Given the description of an element on the screen output the (x, y) to click on. 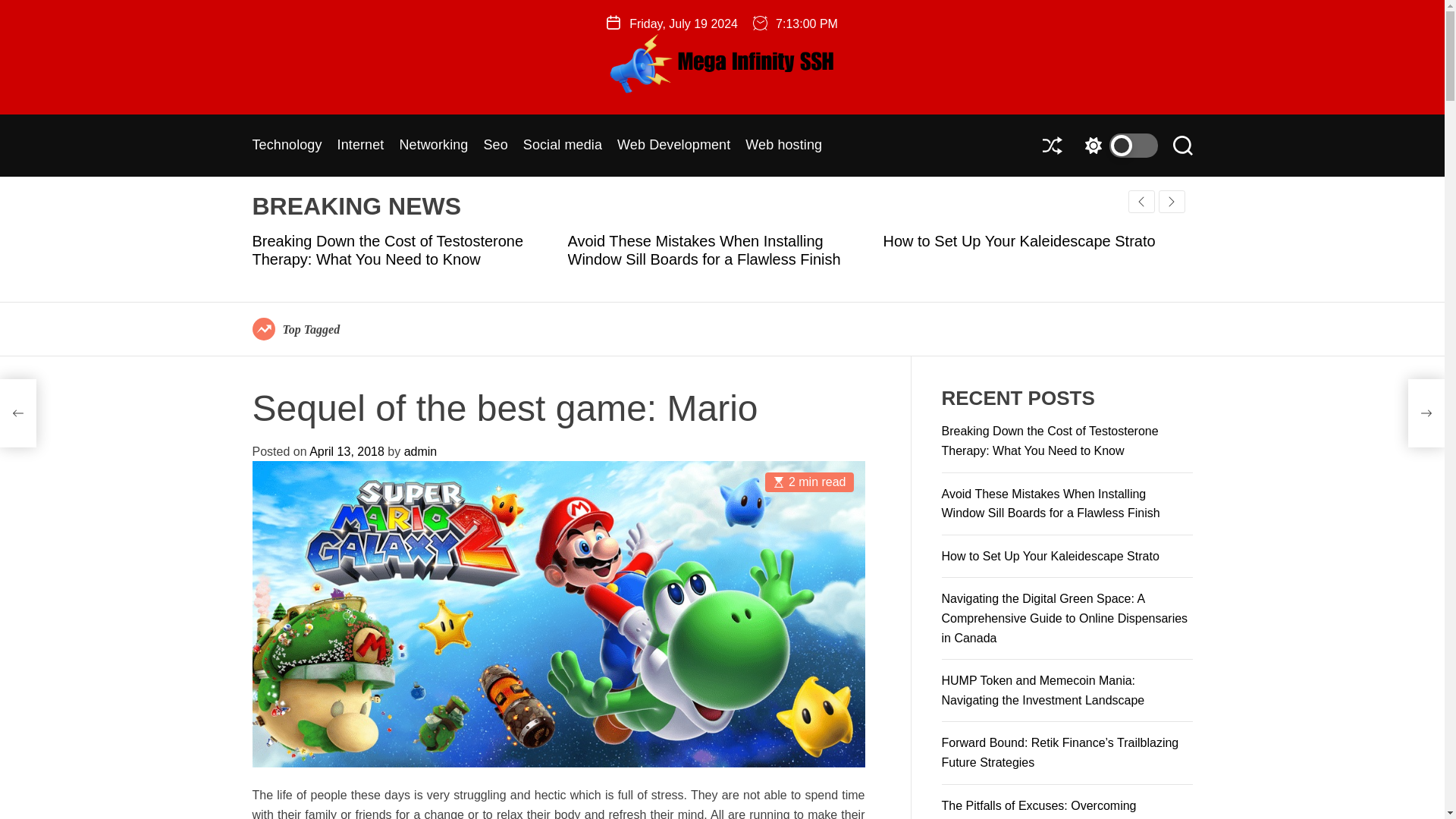
Web Development (673, 145)
April 13, 2018 (346, 451)
How to Set Up Your Kaleidescape Strato (1018, 240)
Web hosting (783, 145)
Internet (360, 145)
Technology (286, 145)
Networking (432, 145)
Social media (562, 145)
admin (421, 451)
Switch color mode (1117, 145)
